Given the description of an element on the screen output the (x, y) to click on. 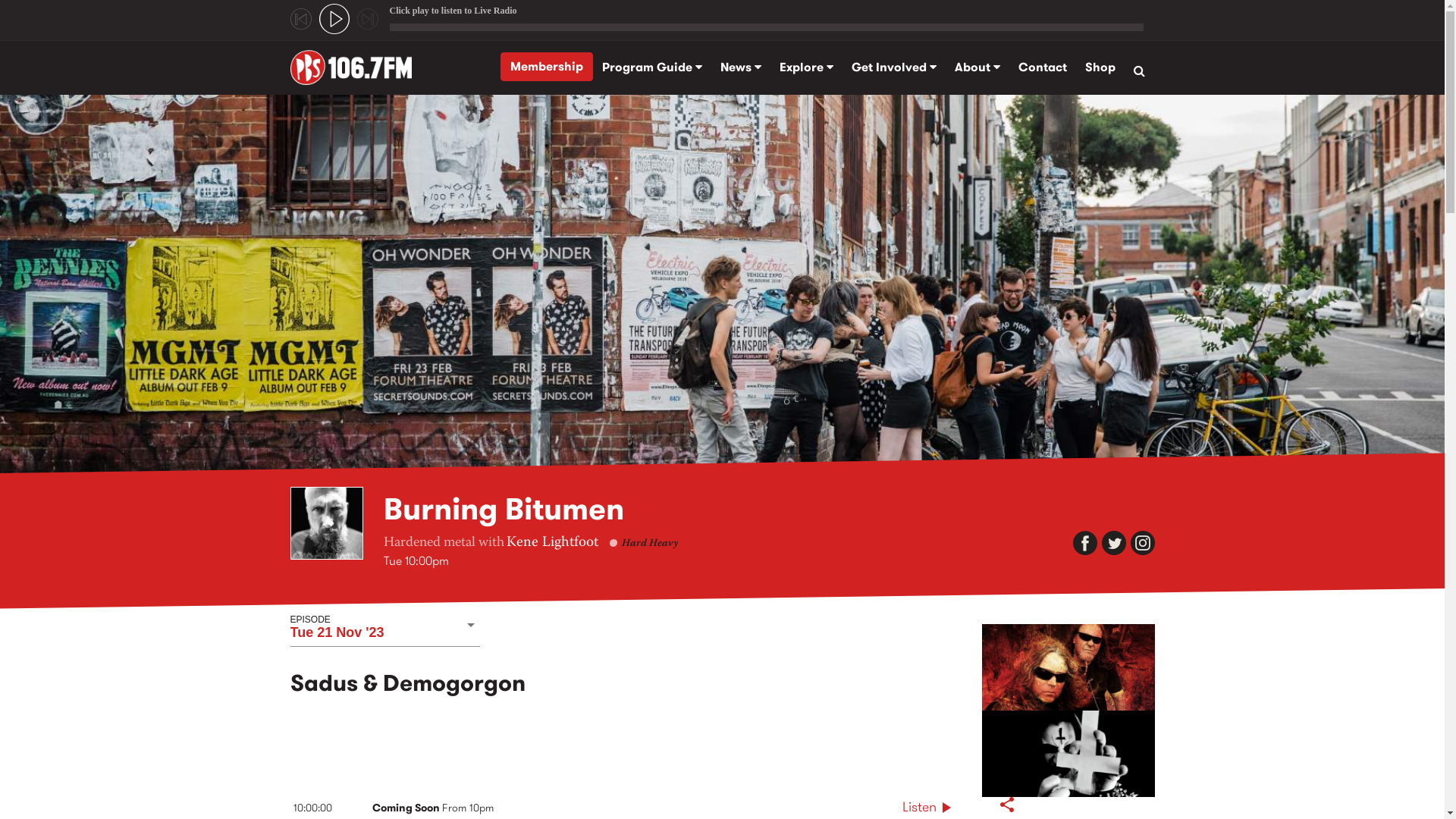
About Element type: text (976, 67)
burningbitumen Instagram Page Element type: hover (1141, 542)
News Element type: text (740, 67)
Shop Element type: text (1099, 67)
Get Involved Element type: text (892, 67)
Facebook Page Element type: hover (1084, 542)
Hard Heavy Element type: text (649, 543)
Membership Element type: text (546, 66)
Home Element type: hover (356, 67)
Skip to main content Element type: text (54, 94)
Program Guide Element type: text (652, 67)
Contact Element type: text (1041, 67)
Twitter Page Element type: hover (1113, 542)
Explore Element type: text (806, 67)
